Given the description of an element on the screen output the (x, y) to click on. 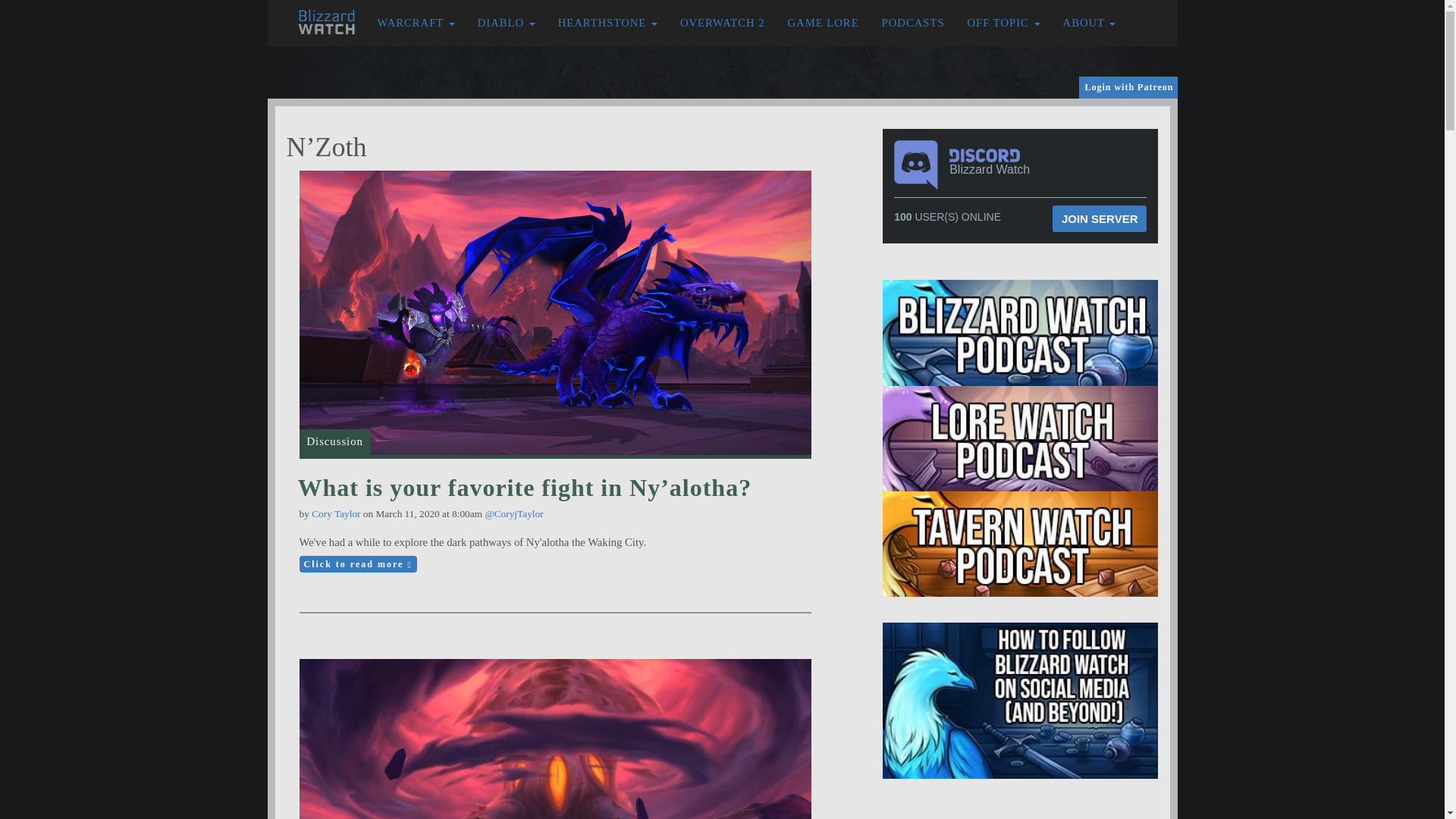
Overwatch 2 (722, 22)
DIABLO (506, 22)
Cory Taylor (335, 513)
Game Lore (823, 22)
Diablo (506, 22)
Off Topic (1003, 22)
PODCASTS (913, 22)
HEARTHSTONE (607, 22)
OFF TOPIC (1003, 22)
ABOUT (1088, 22)
WARCRAFT (415, 22)
Warcraft (415, 22)
Hearthstone (607, 22)
GAME LORE (823, 22)
